Given the description of an element on the screen output the (x, y) to click on. 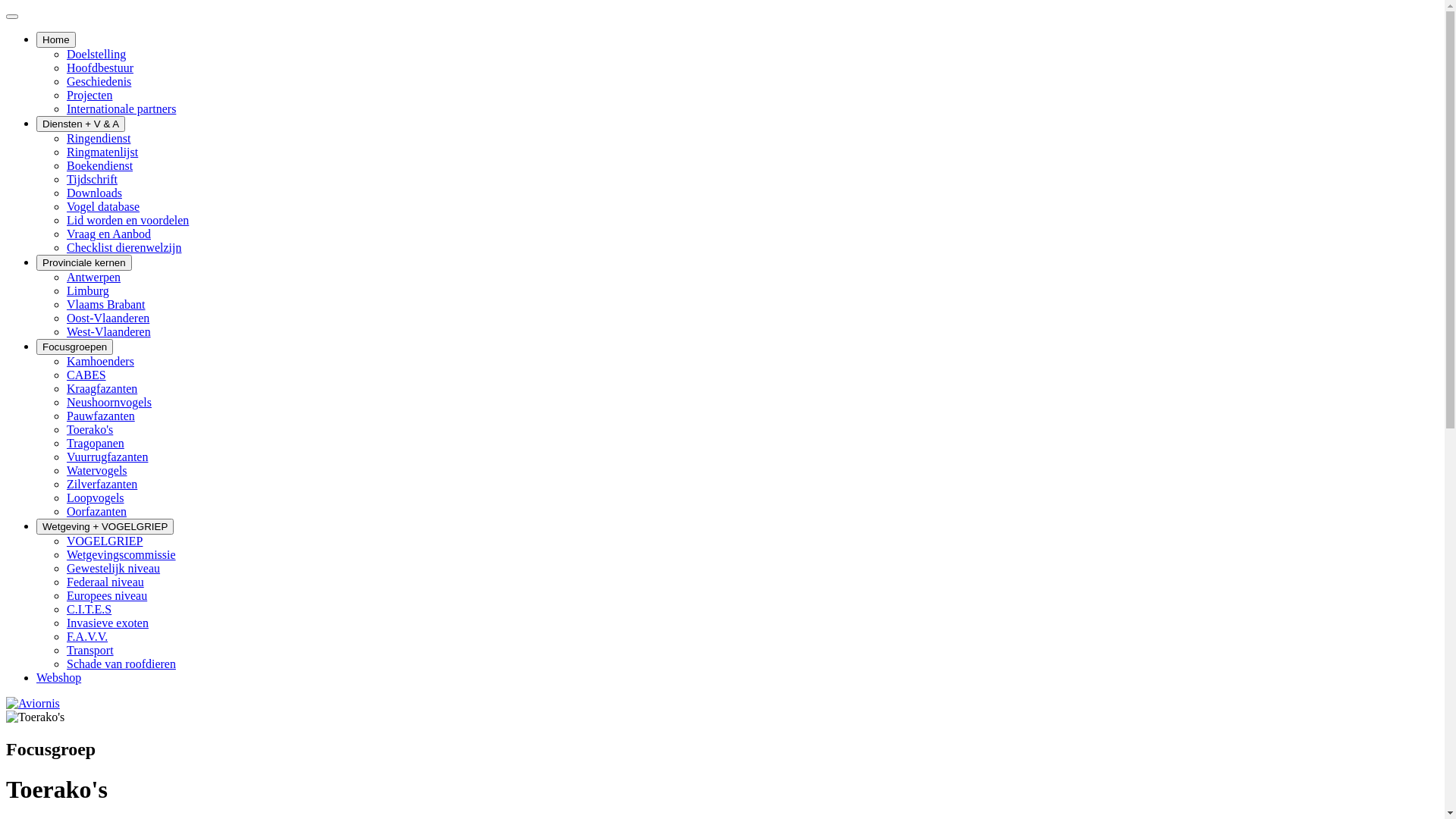
CABES Element type: text (86, 374)
Schade van roofdieren Element type: text (120, 663)
Europees niveau Element type: text (106, 595)
Hoofdbestuur Element type: text (99, 67)
Boekendienst Element type: text (99, 165)
Projecten Element type: text (89, 94)
Lid worden en voordelen Element type: text (127, 219)
Home Element type: text (55, 39)
Geschiedenis Element type: text (98, 81)
Limburg Element type: text (87, 290)
Wetgevingscommissie Element type: text (120, 554)
Downloads Element type: text (94, 192)
Vogel database Element type: text (102, 206)
VOGELGRIEP Element type: text (104, 540)
F.A.V.V. Element type: text (86, 636)
Toerako's Element type: text (89, 429)
Ringendienst Element type: text (98, 137)
Diensten + V & A Element type: text (80, 123)
C.I.T.E.S Element type: text (88, 608)
Vlaams Brabant Element type: text (105, 304)
Kraagfazanten Element type: text (101, 388)
Provinciale kernen Element type: text (83, 262)
Checklist dierenwelzijn Element type: text (124, 247)
Tragopanen Element type: text (95, 442)
Oost-Vlaanderen Element type: text (107, 317)
Tijdschrift Element type: text (91, 178)
Transport Element type: text (89, 649)
Antwerpen Element type: text (93, 276)
Neushoornvogels Element type: text (108, 401)
Pauwfazanten Element type: text (100, 415)
Kamhoenders Element type: text (100, 360)
Vraag en Aanbod Element type: text (108, 233)
Vuurrugfazanten Element type: text (106, 456)
Watervogels Element type: text (96, 470)
Federaal niveau Element type: text (105, 581)
Doelstelling Element type: text (95, 53)
Invasieve exoten Element type: text (107, 622)
West-Vlaanderen Element type: text (108, 331)
Oorfazanten Element type: text (96, 511)
Internationale partners Element type: text (120, 108)
Webshop Element type: text (58, 677)
Loopvogels Element type: text (95, 497)
Gewestelijk niveau Element type: text (113, 567)
Zilverfazanten Element type: text (101, 483)
Wetgeving + VOGELGRIEP Element type: text (104, 526)
Focusgroepen Element type: text (74, 346)
Ringmatenlijst Element type: text (102, 151)
